Given the description of an element on the screen output the (x, y) to click on. 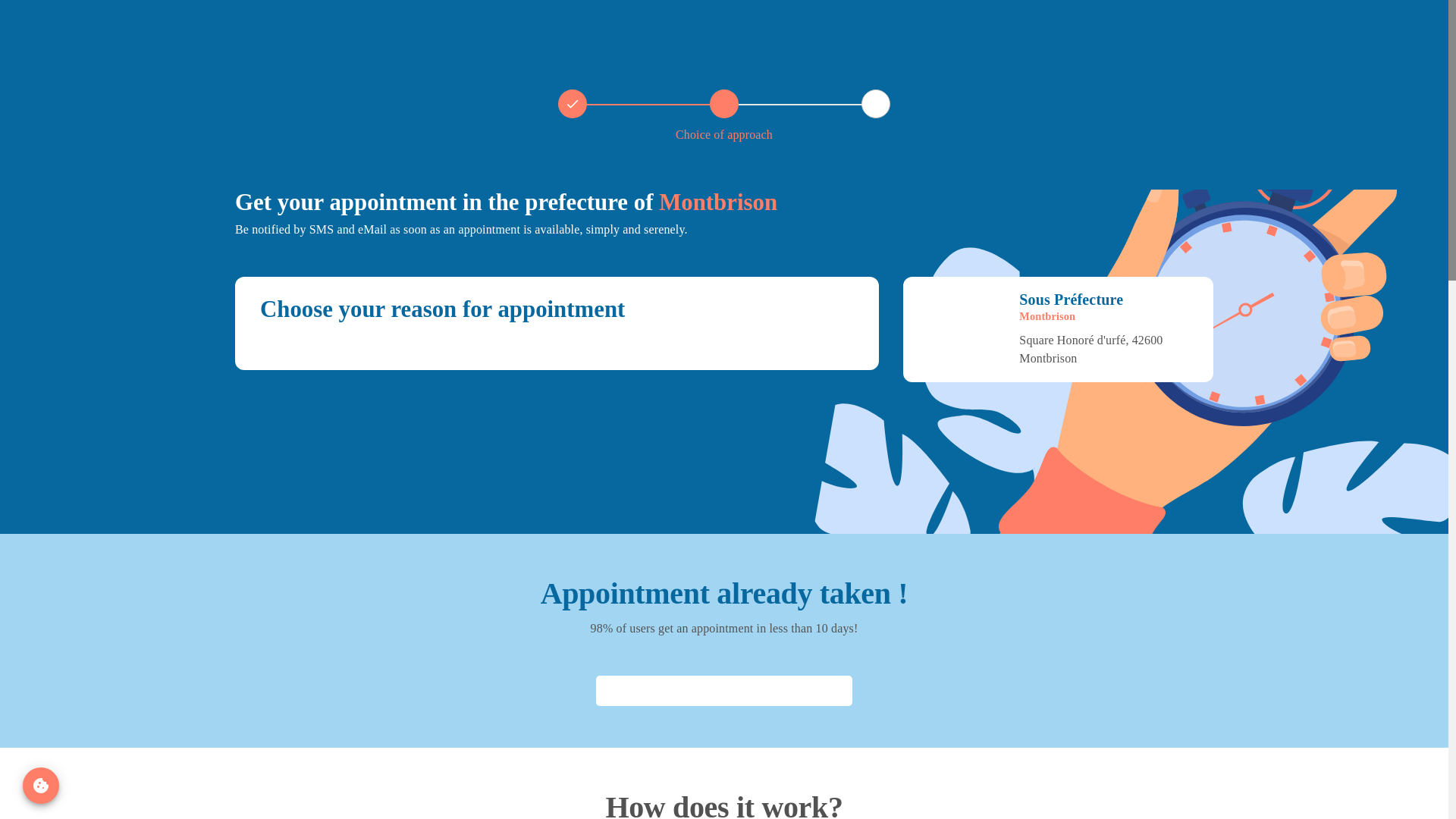
Customer reviews powered by Trustpilot (724, 690)
